Given the description of an element on the screen output the (x, y) to click on. 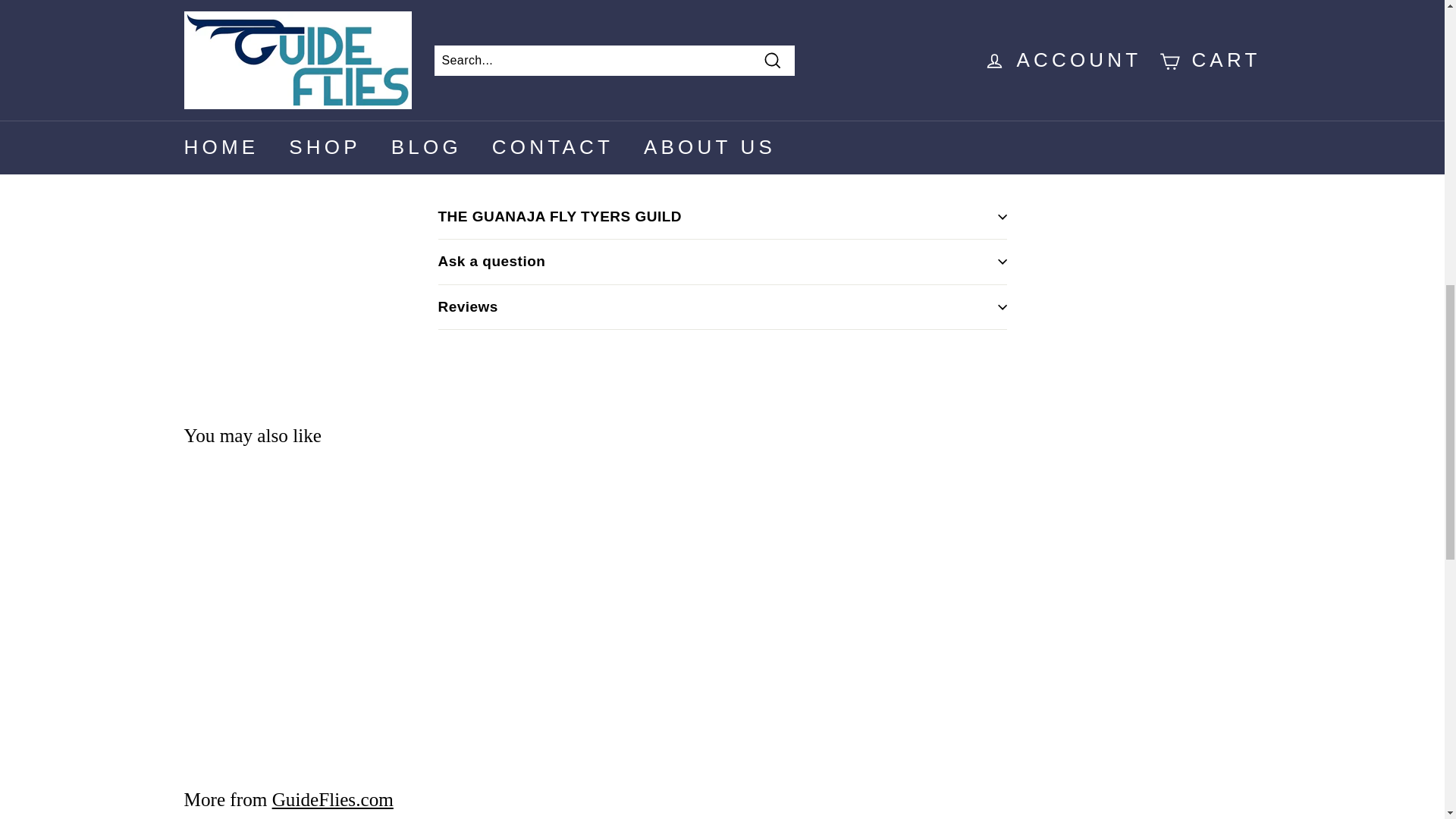
Share on Facebook (904, 144)
GuideFlies.com (332, 799)
Tweet on Twitter (977, 144)
Pin on Pinterest (1049, 144)
